Given the description of an element on the screen output the (x, y) to click on. 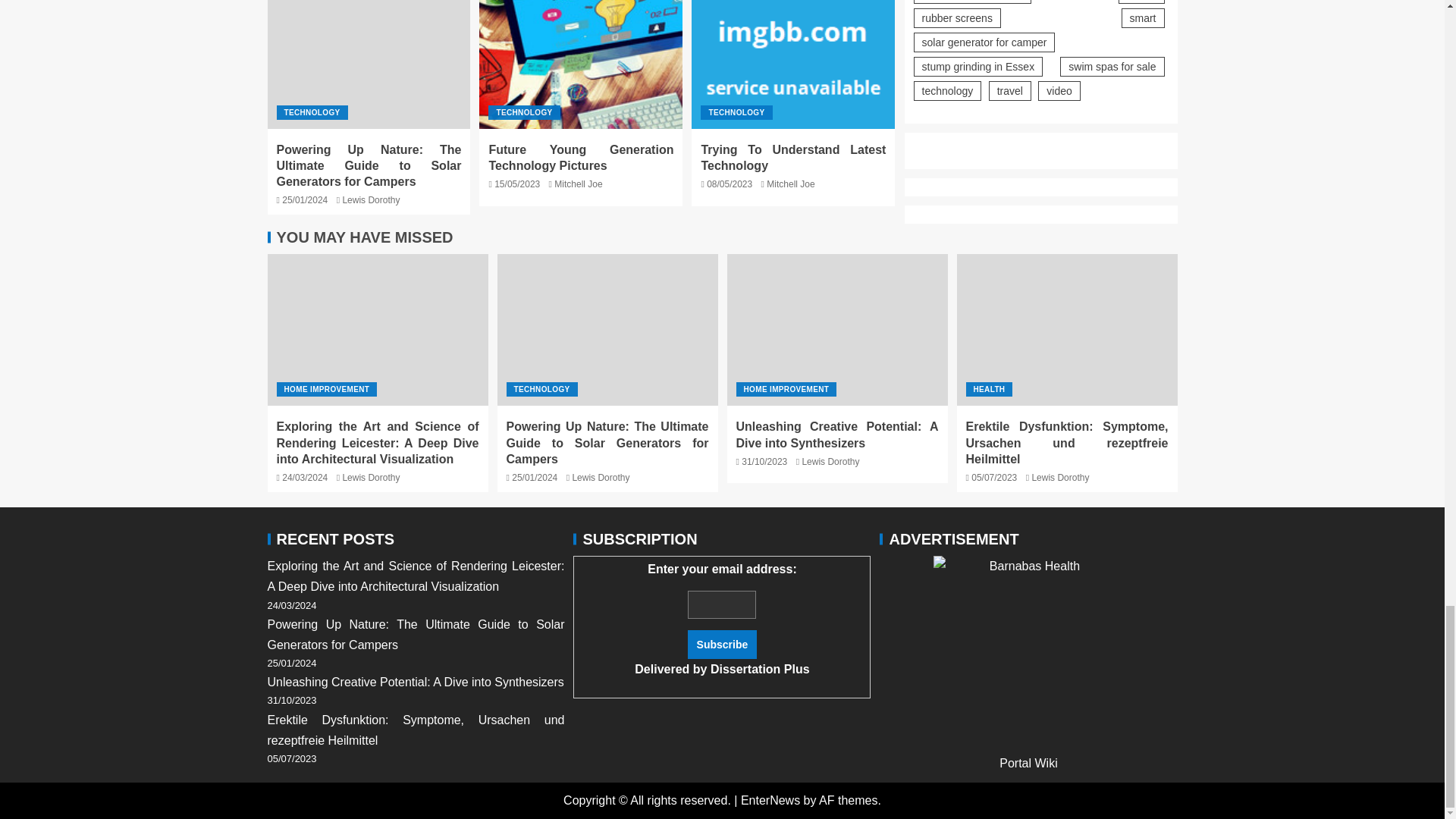
Subscribe (722, 644)
Lewis Dorothy (370, 199)
TECHNOLOGY (311, 112)
Future Young Generation Technology Pictures (580, 64)
Future Young Generation Technology Pictures (579, 157)
TECHNOLOGY (523, 112)
Trying To Understand Latest Technology (793, 64)
